Given the description of an element on the screen output the (x, y) to click on. 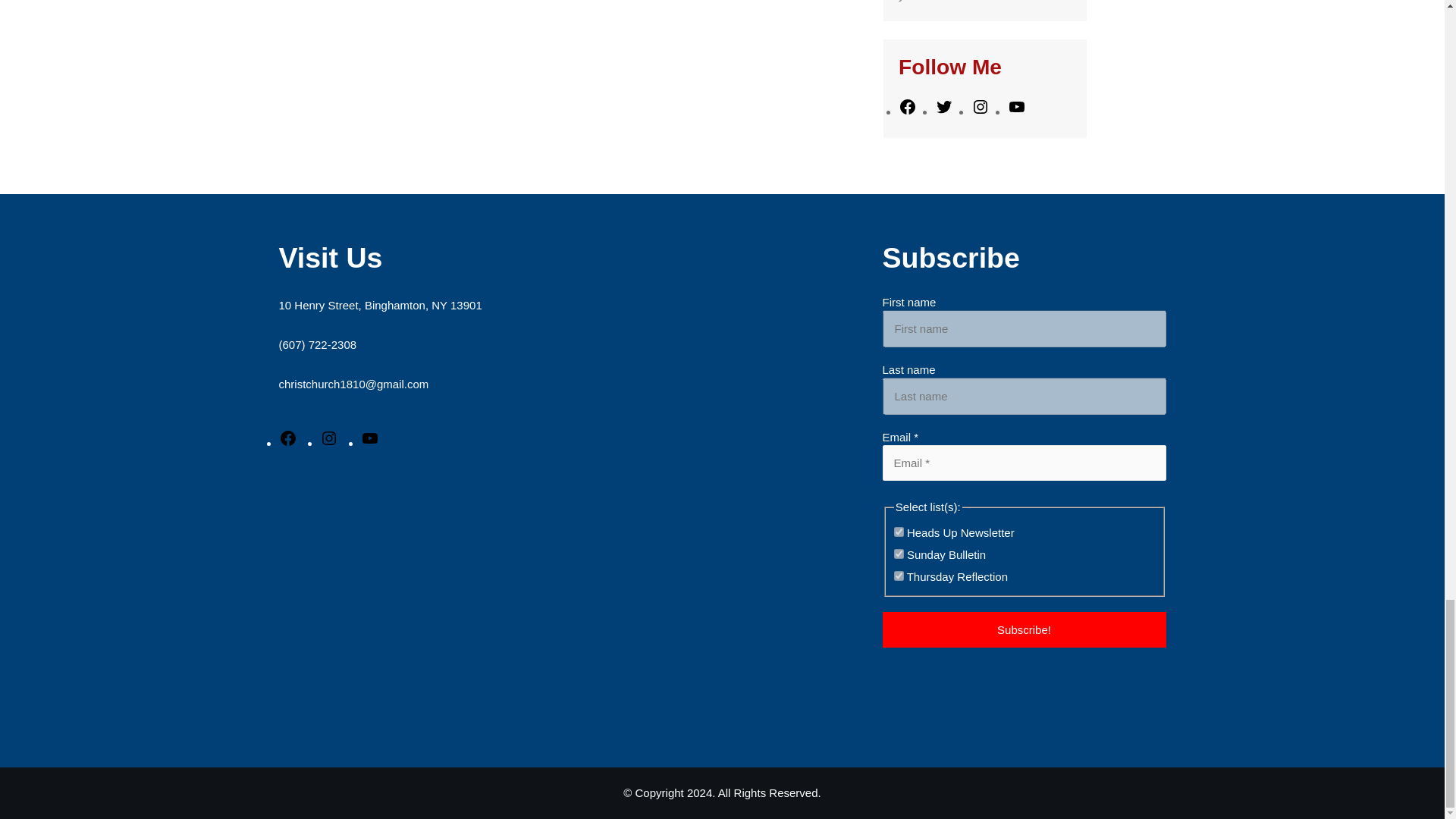
7 (898, 553)
First name (1024, 328)
Last name (1024, 395)
6 (898, 575)
3 (898, 532)
Google Map for  (521, 600)
Subscribe! (1024, 629)
Email (1024, 462)
